Given the description of an element on the screen output the (x, y) to click on. 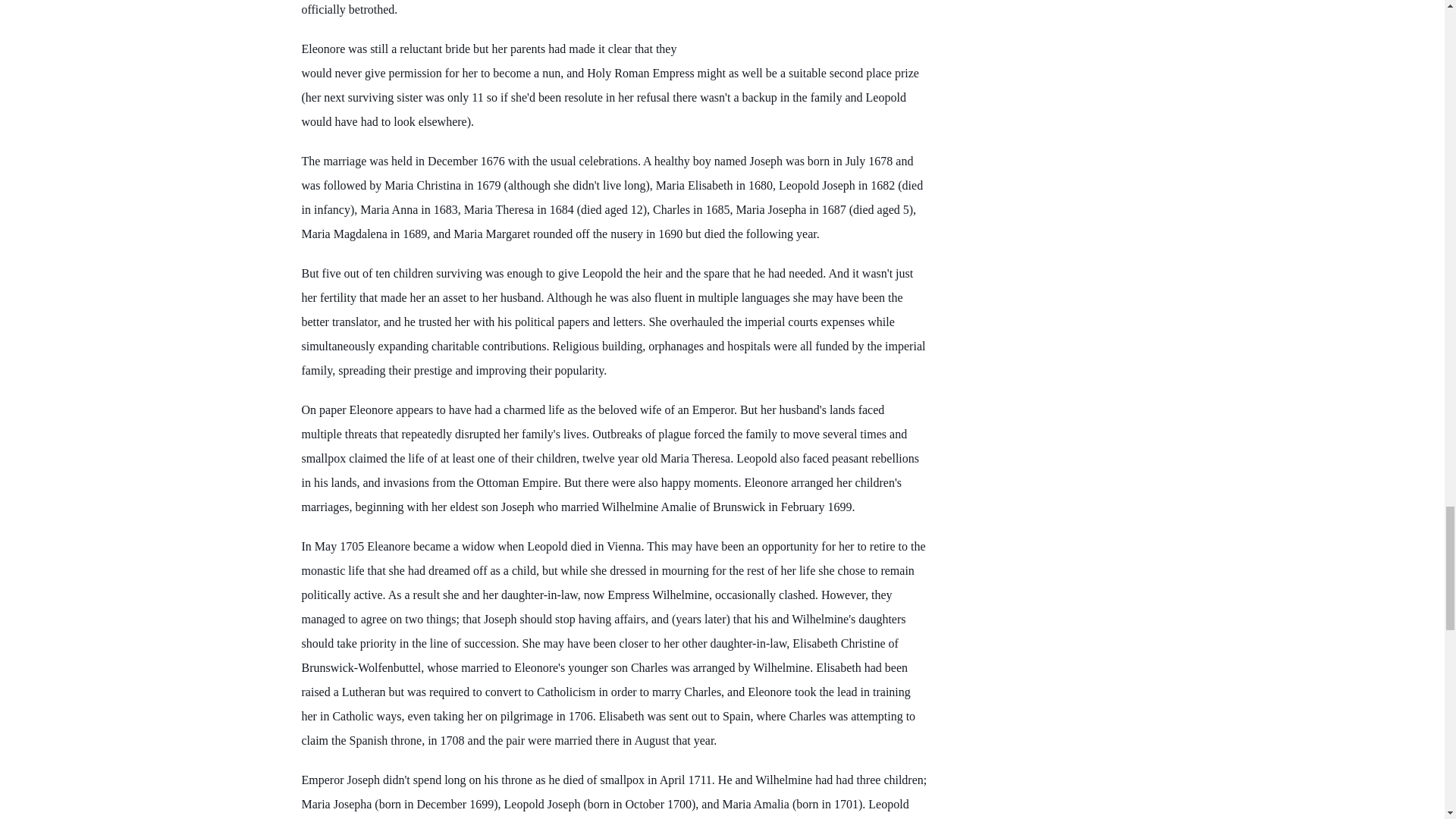
Eleanore Magdalene of Neuberg, Holy Roman Empress (807, 19)
